Given the description of an element on the screen output the (x, y) to click on. 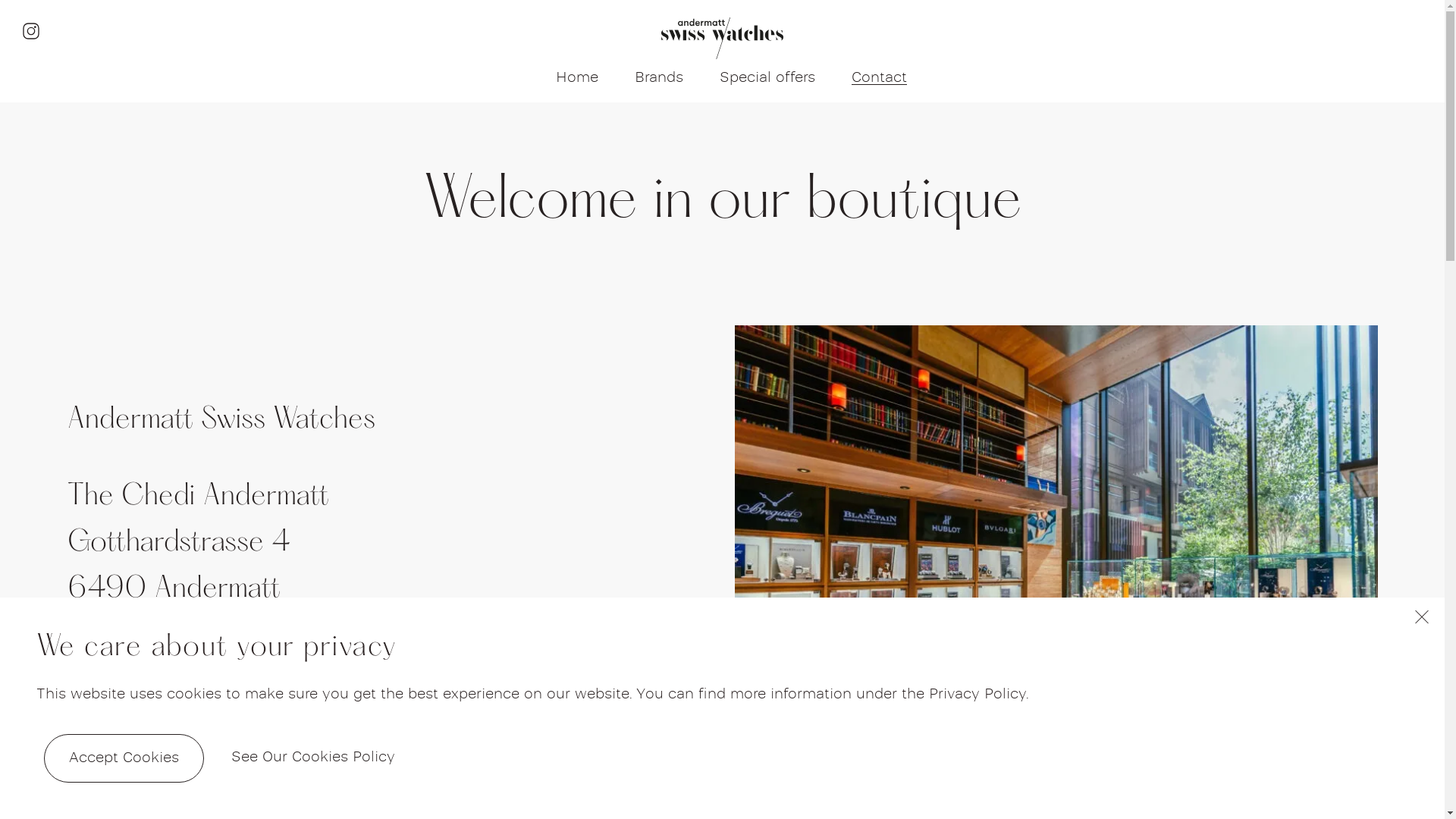
Accept Cookies Element type: text (123, 758)
Contact Element type: text (878, 77)
No Element type: hover (1412, 621)
Home Element type: text (576, 77)
Brands Element type: text (658, 77)
+41 41 888 79 22 Element type: text (178, 666)
See Our Cookies Policy Element type: text (313, 766)
info@andermattsw.ch Element type: text (194, 712)
Special offers Element type: text (767, 77)
Skip to main content Element type: text (0, 102)
